Given the description of an element on the screen output the (x, y) to click on. 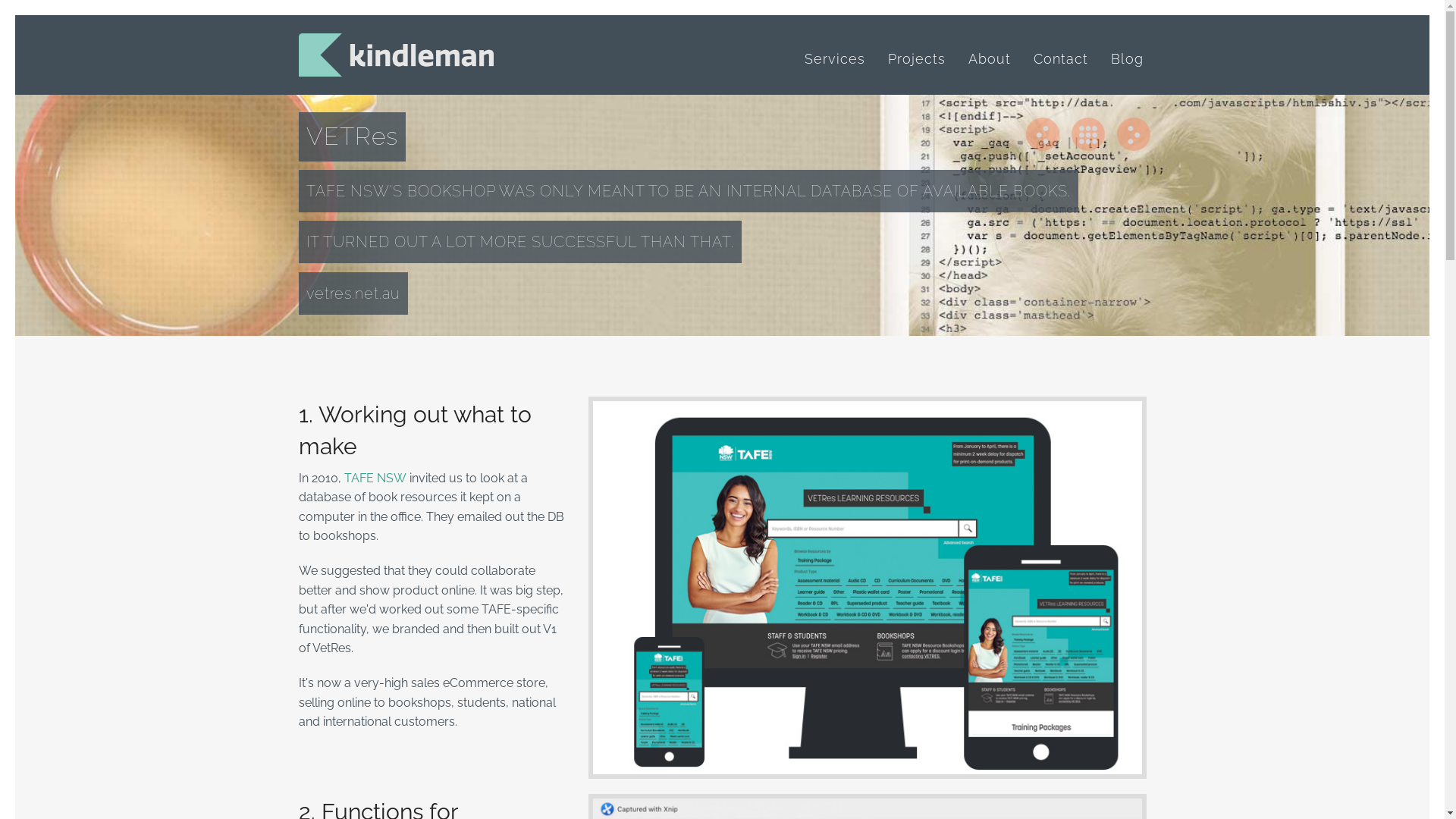
About Element type: text (988, 59)
Projects Element type: text (915, 59)
Go to Hippogo Element type: hover (1041, 133)
Go to Resolution Minerals Element type: hover (1132, 133)
vetres.net.au Element type: text (353, 292)
Blog Element type: text (1126, 59)
Contact Element type: text (1059, 59)
Services Element type: text (833, 59)
TAFE NSW Element type: text (375, 477)
